Given the description of an element on the screen output the (x, y) to click on. 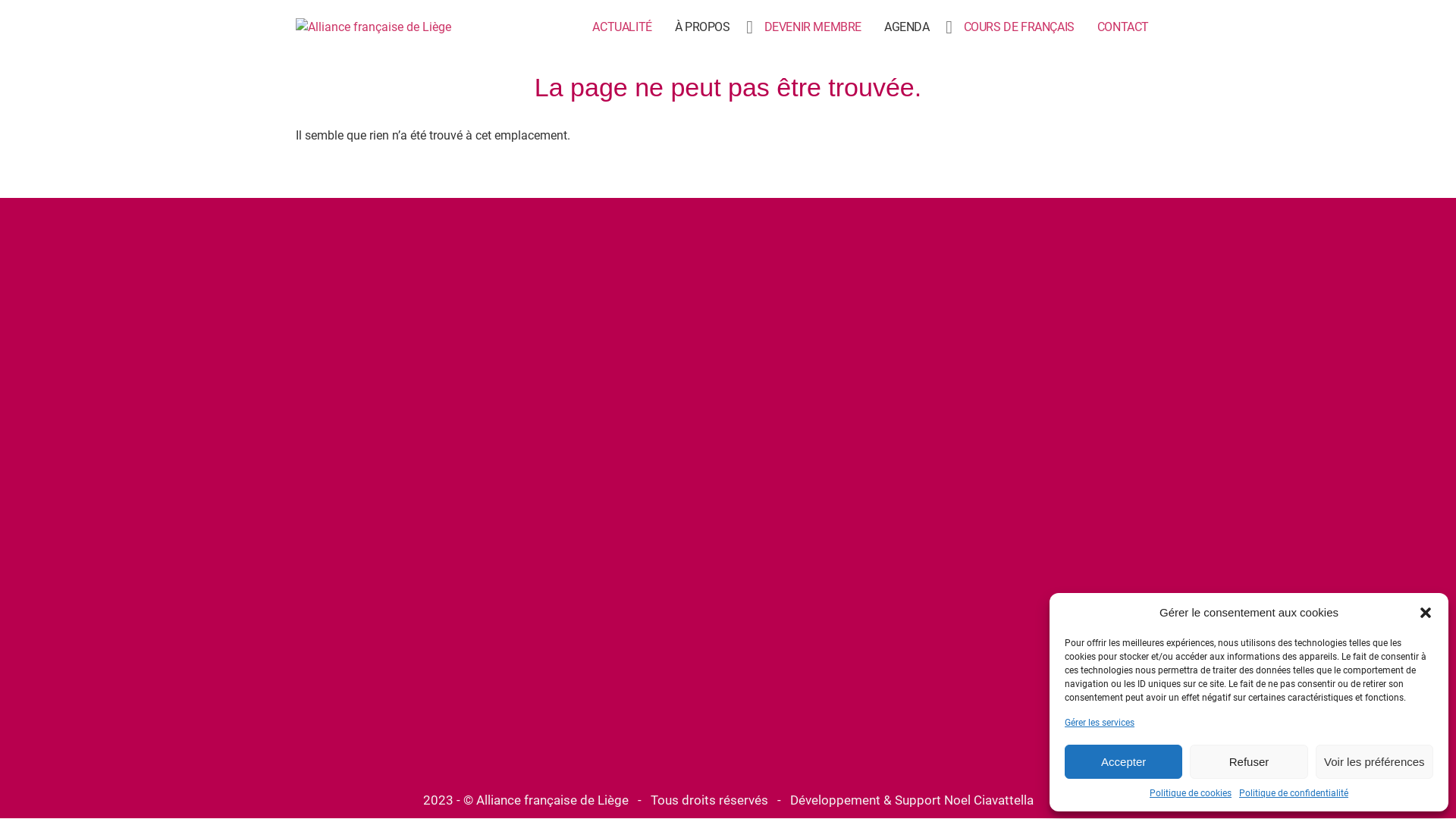
Politique de cookies Element type: text (1190, 793)
Accepter Element type: text (1123, 761)
Refuser Element type: text (1248, 761)
DEVENIR MEMBRE Element type: text (812, 27)
Abonnez-vous Element type: text (563, 741)
AGENDA Element type: text (906, 27)
CONTACT Element type: text (1122, 27)
Noel Ciavattella Element type: text (987, 799)
